Given the description of an element on the screen output the (x, y) to click on. 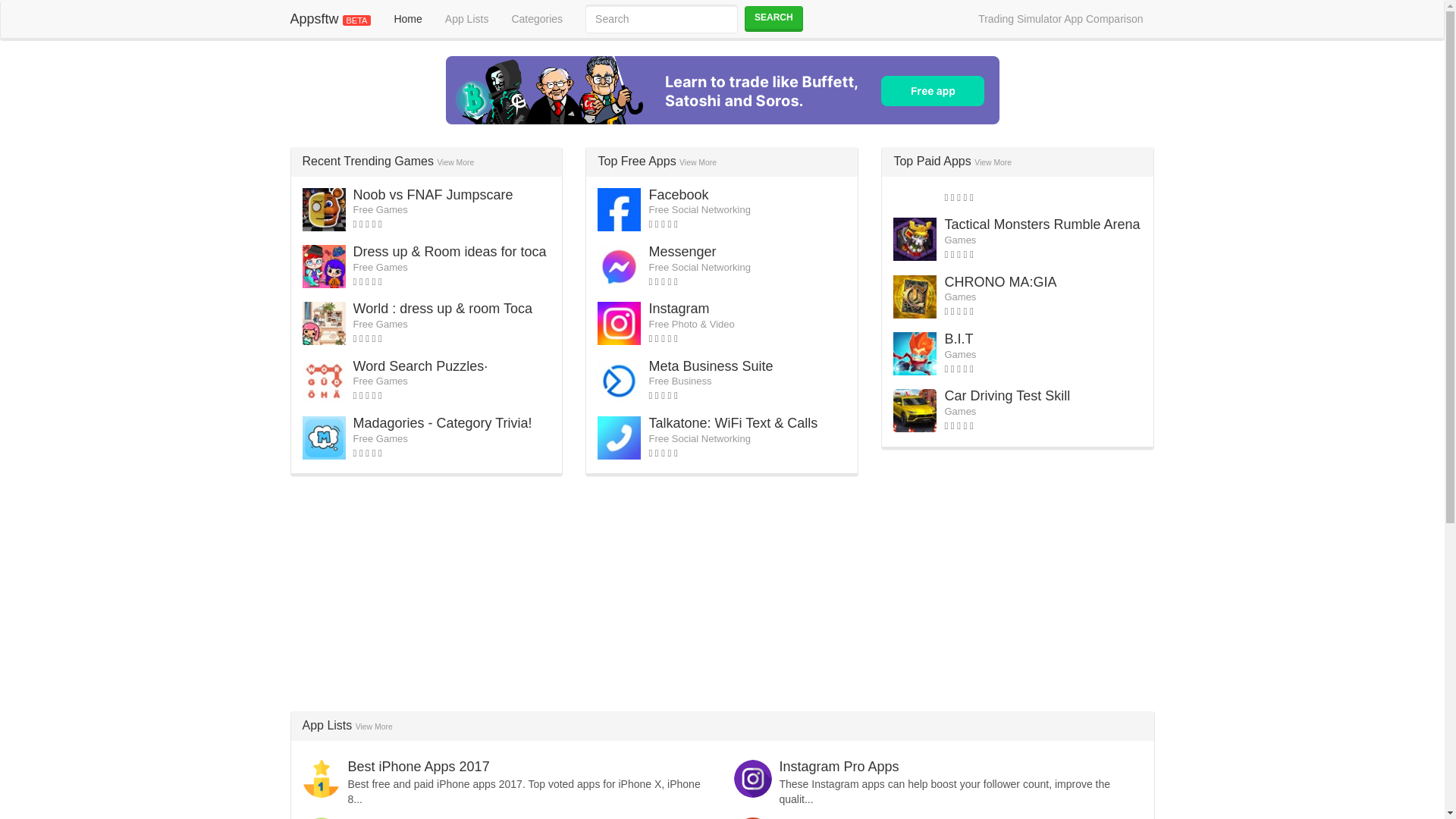
Apps to Increase Productivity (435, 817)
App Lists (466, 18)
View Noob vs FNAF Jumpscare (433, 194)
View Instagram (678, 308)
B.I.T (957, 338)
View Car Driving Test Skill (1006, 395)
Madagories - Category Trivia! (442, 422)
Categories (536, 18)
CHRONO MA:GIA (1000, 281)
View B.I.T (957, 338)
